Given the description of an element on the screen output the (x, y) to click on. 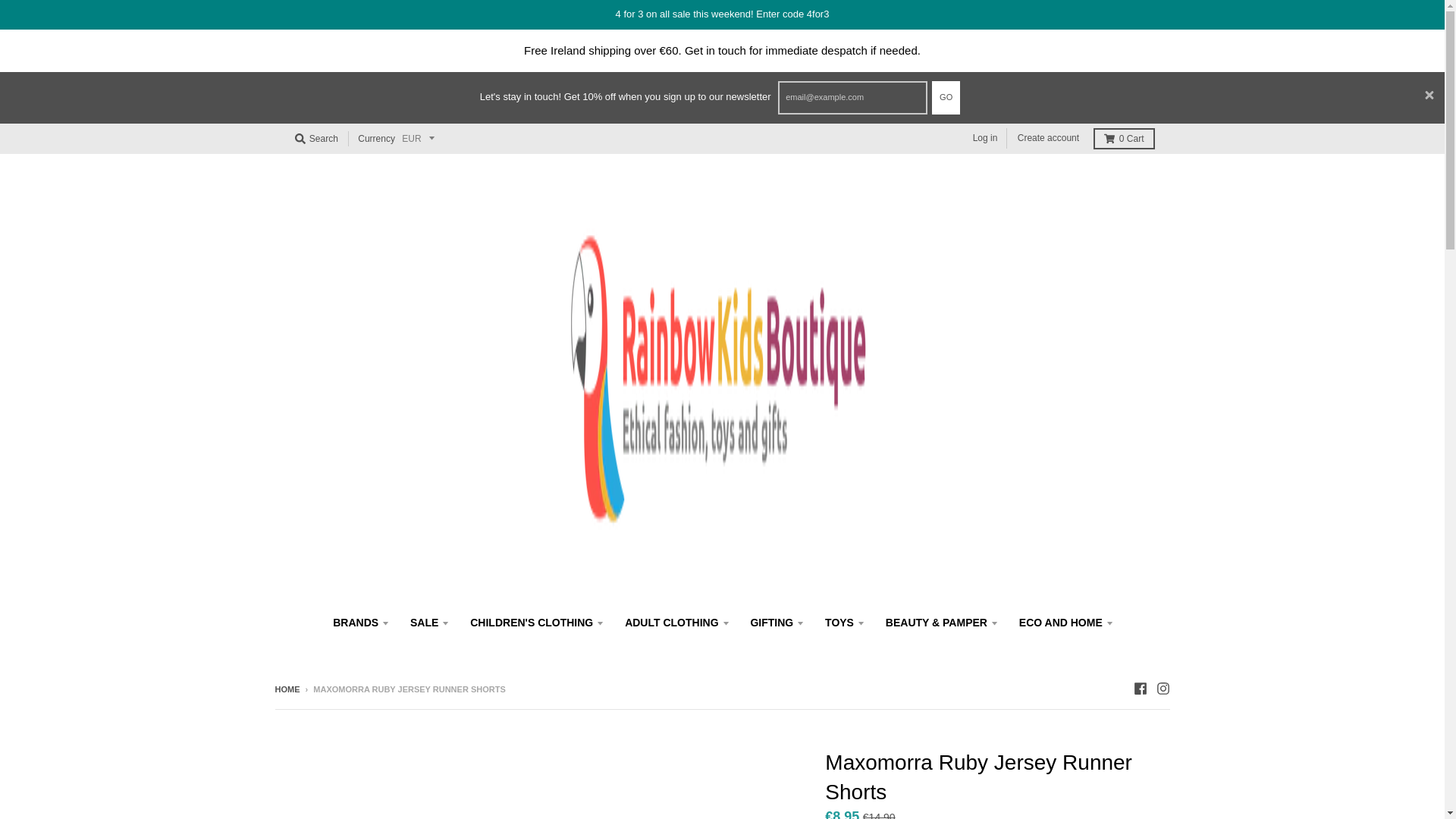
Instagram - Rainbow Kids Boutique (1162, 688)
BRANDS (360, 622)
Create account (1048, 137)
0 Cart (1123, 138)
Back to the frontpage (287, 688)
Log in (985, 137)
Search (315, 138)
Facebook - Rainbow Kids Boutique (1139, 688)
